Given the description of an element on the screen output the (x, y) to click on. 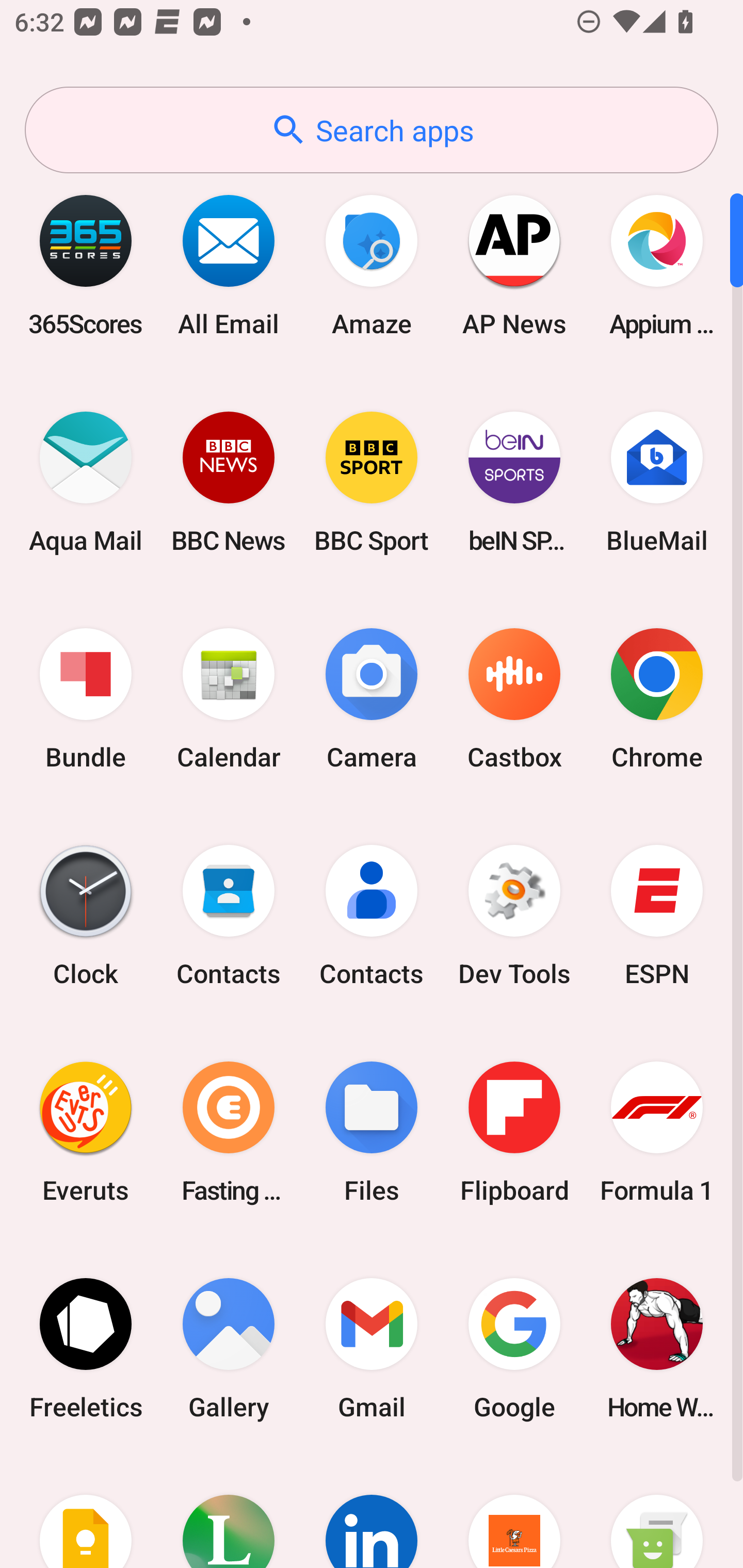
  Search apps (371, 130)
365Scores (85, 264)
All Email (228, 264)
Amaze (371, 264)
AP News (514, 264)
Appium Settings (656, 264)
Aqua Mail (85, 482)
BBC News (228, 482)
BBC Sport (371, 482)
beIN SPORTS (514, 482)
BlueMail (656, 482)
Bundle (85, 699)
Calendar (228, 699)
Camera (371, 699)
Castbox (514, 699)
Chrome (656, 699)
Clock (85, 915)
Contacts (228, 915)
Contacts (371, 915)
Dev Tools (514, 915)
ESPN (656, 915)
Everuts (85, 1131)
Fasting Coach (228, 1131)
Files (371, 1131)
Flipboard (514, 1131)
Formula 1 (656, 1131)
Freeletics (85, 1348)
Gallery (228, 1348)
Gmail (371, 1348)
Google (514, 1348)
Home Workout (656, 1348)
